Given the description of an element on the screen output the (x, y) to click on. 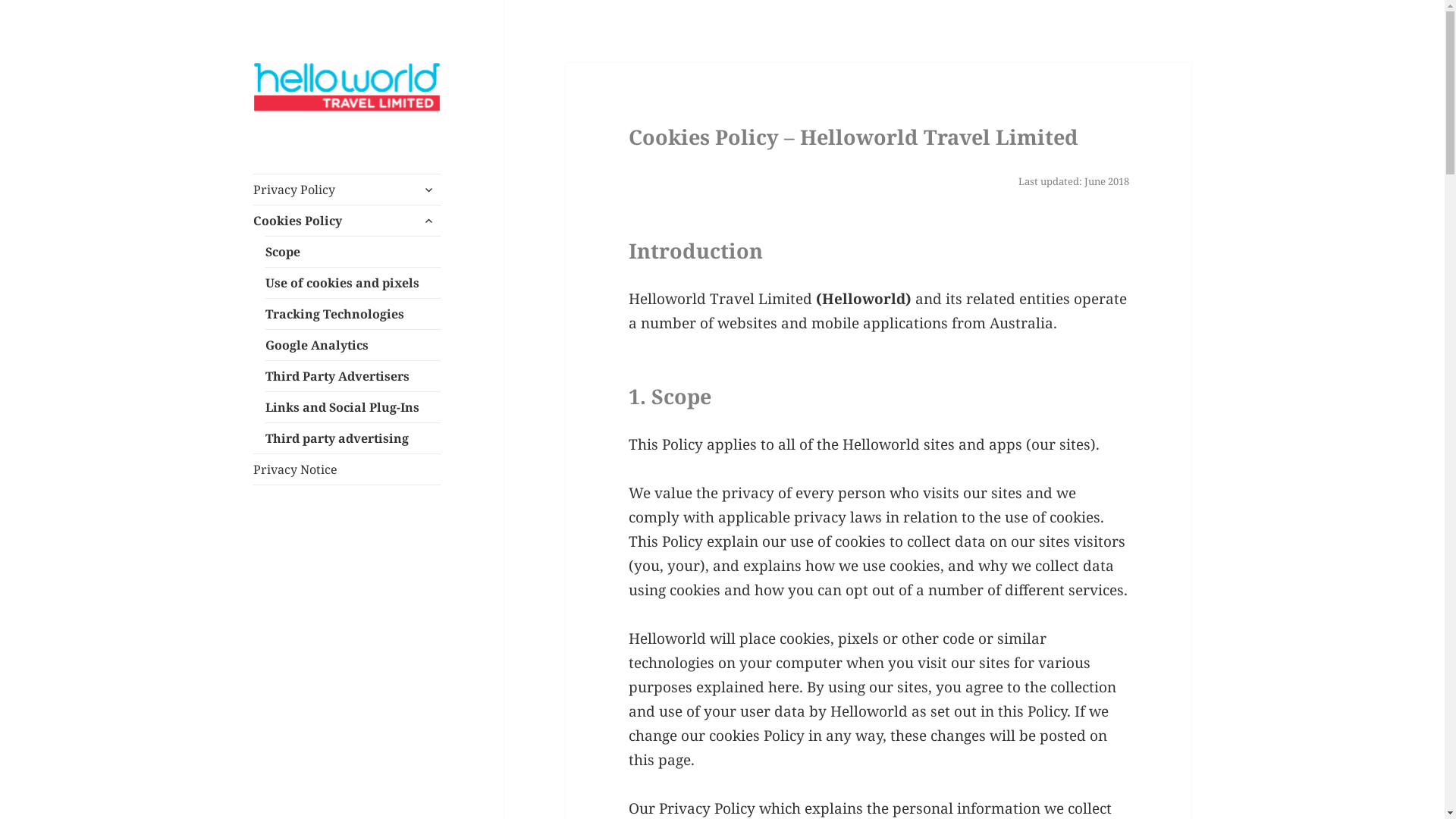
Privacy Notice Element type: text (347, 469)
Scope Element type: text (353, 251)
Google Analytics Element type: text (353, 344)
Third party advertising Element type: text (353, 438)
Use of cookies and pixels Element type: text (353, 282)
expand child menu Element type: text (428, 189)
Top Element type: text (24, 20)
Cookies Policy Element type: text (347, 220)
Third Party Advertisers Element type: text (353, 375)
Links and Social Plug-Ins Element type: text (353, 407)
expand child menu Element type: text (428, 220)
Privacy Policy Element type: text (347, 189)
Tracking Technologies Element type: text (353, 313)
Helloworld Travel Ltd Policies Element type: text (341, 147)
